Given the description of an element on the screen output the (x, y) to click on. 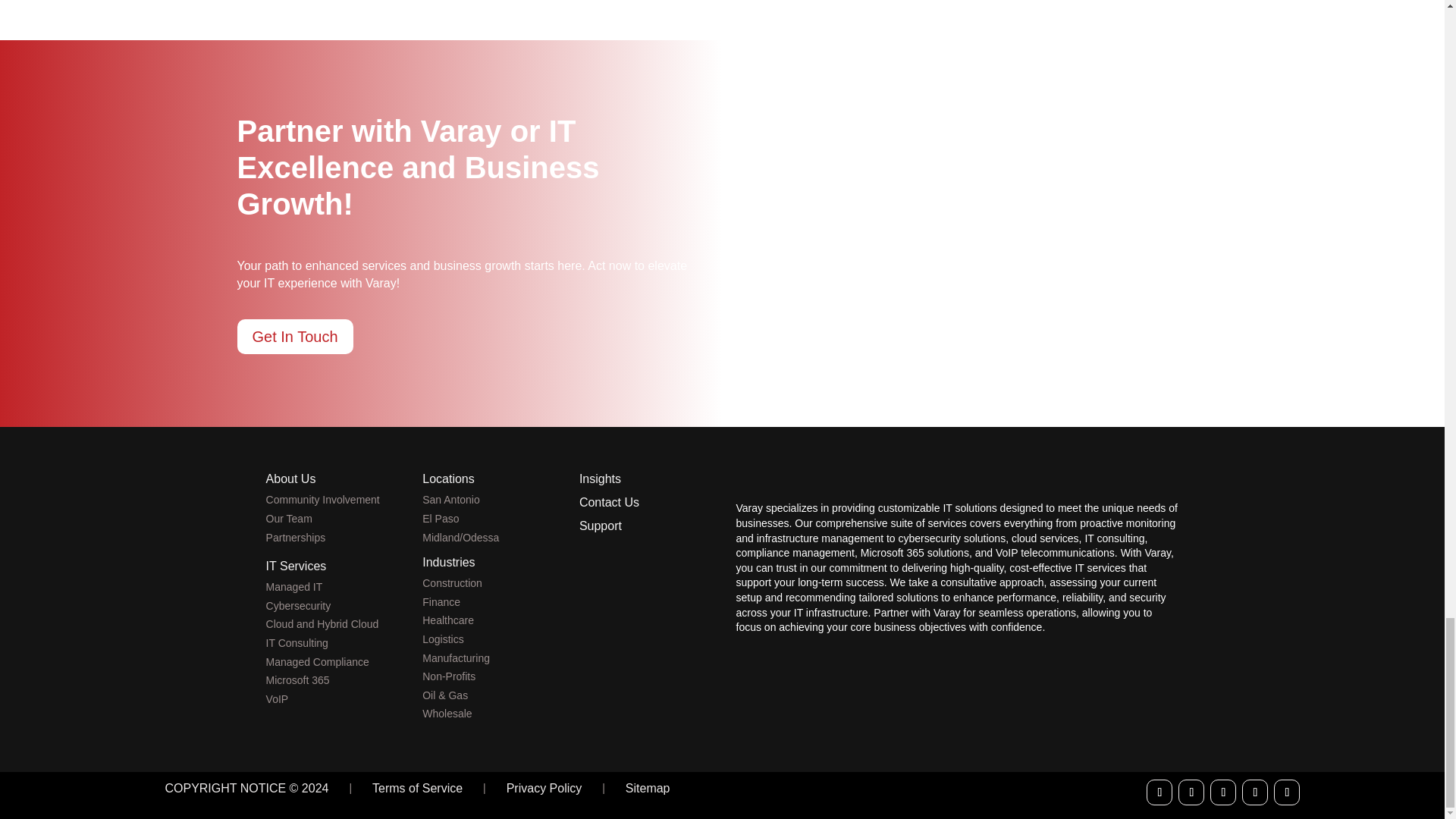
Follow on Instagram (1287, 792)
Follow on LinkedIn (1222, 792)
Follow on Youtube (1254, 792)
Follow on X (1190, 792)
Follow on Facebook (1159, 792)
